Given the description of an element on the screen output the (x, y) to click on. 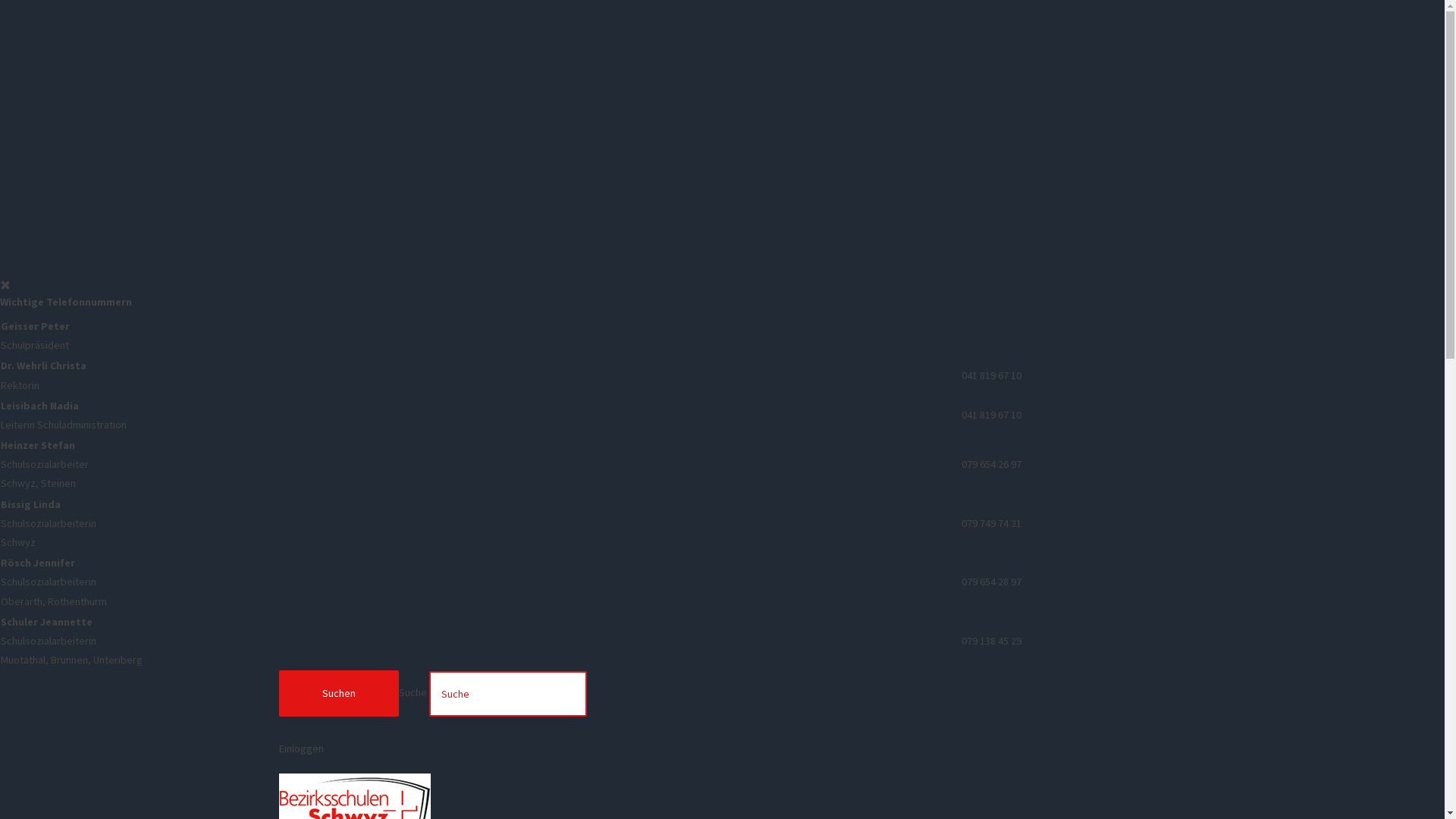
Einloggen Element type: text (722, 748)
Suchen Element type: text (338, 693)
